Given the description of an element on the screen output the (x, y) to click on. 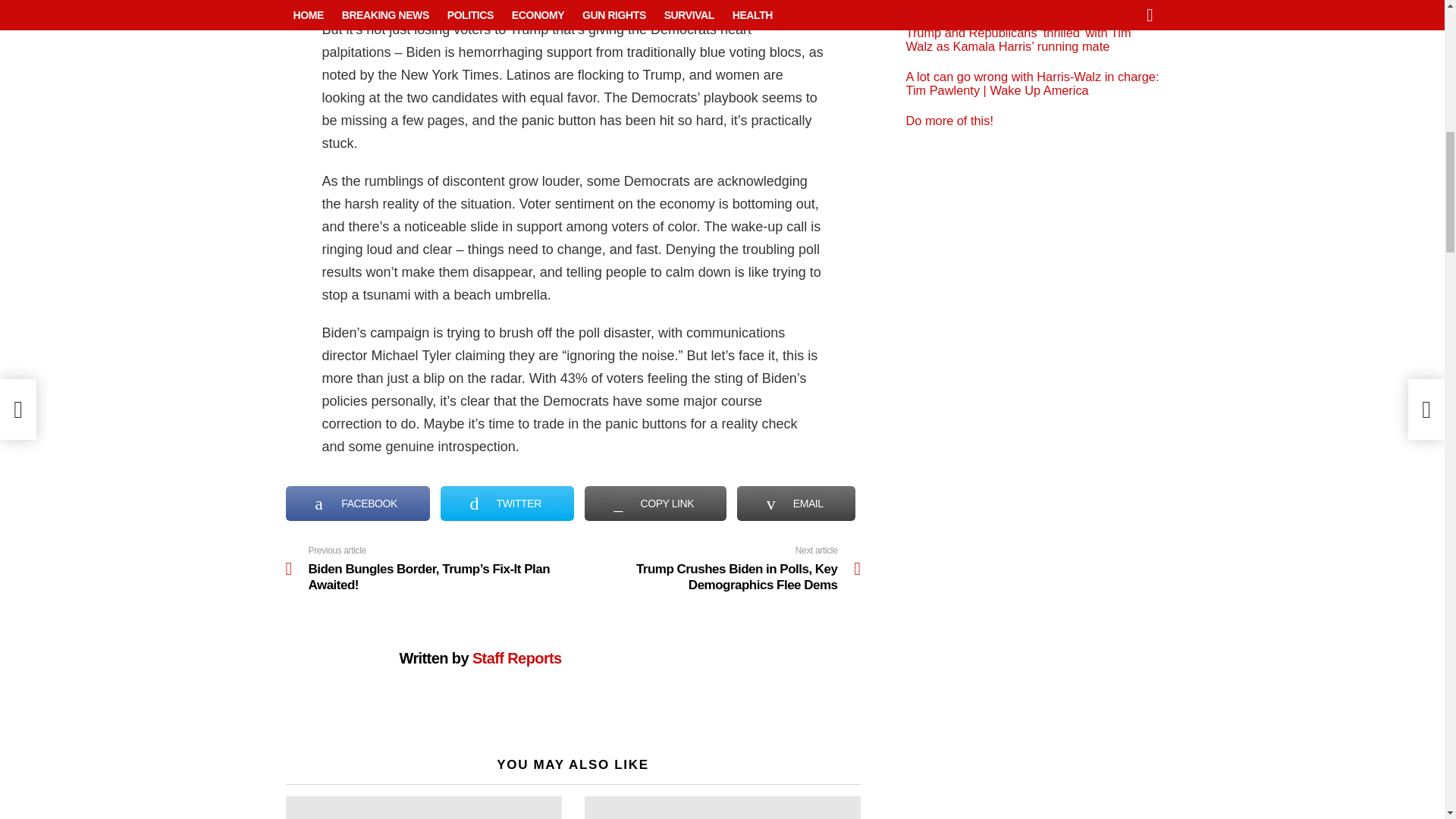
Share on Facebook (357, 503)
Share on Email (796, 503)
Share on Twitter (507, 503)
Share on Copy Link (655, 503)
